Given the description of an element on the screen output the (x, y) to click on. 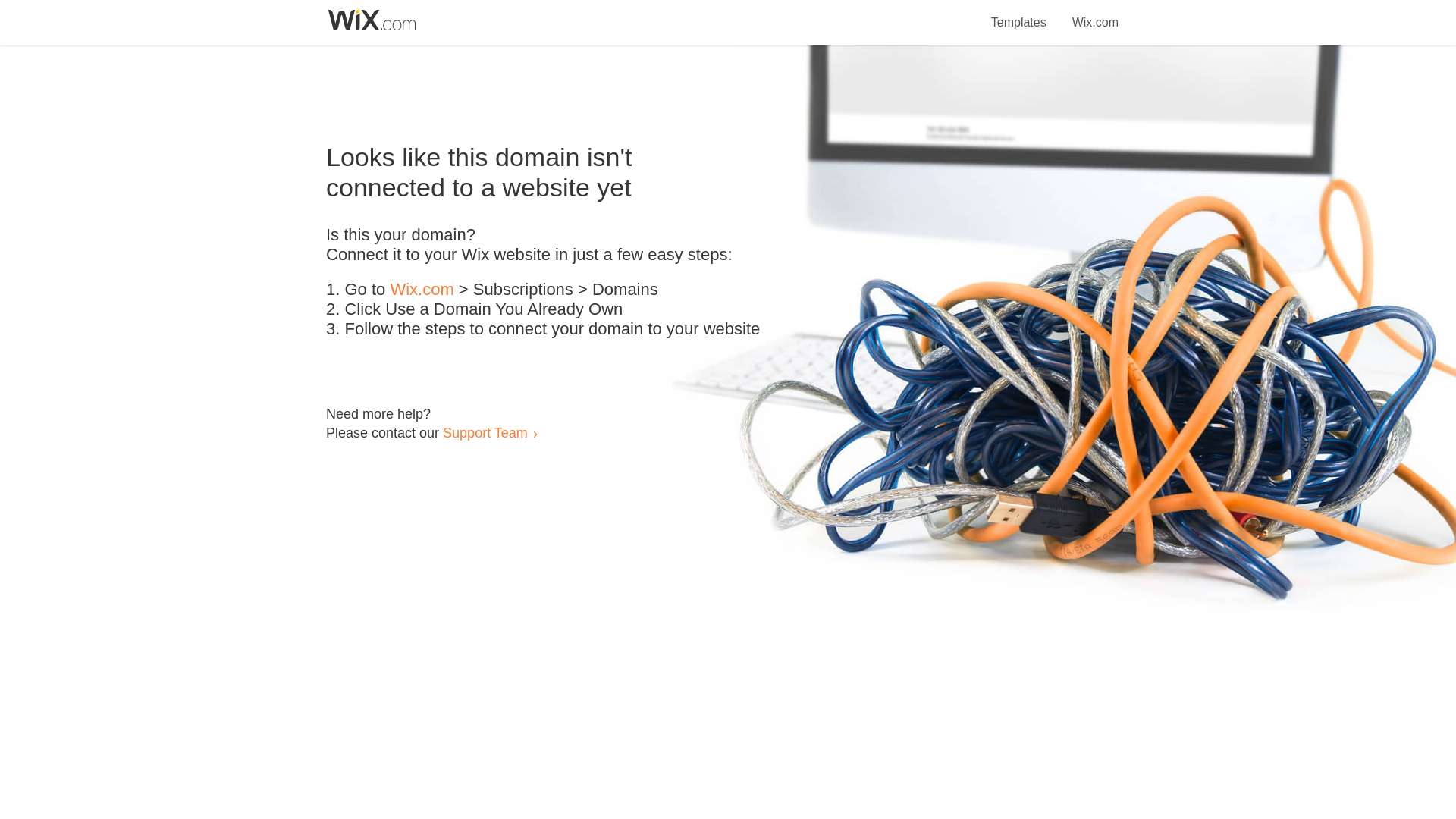
Support Team (484, 432)
Templates (1018, 14)
Wix.com (421, 289)
Wix.com (1095, 14)
